Given the description of an element on the screen output the (x, y) to click on. 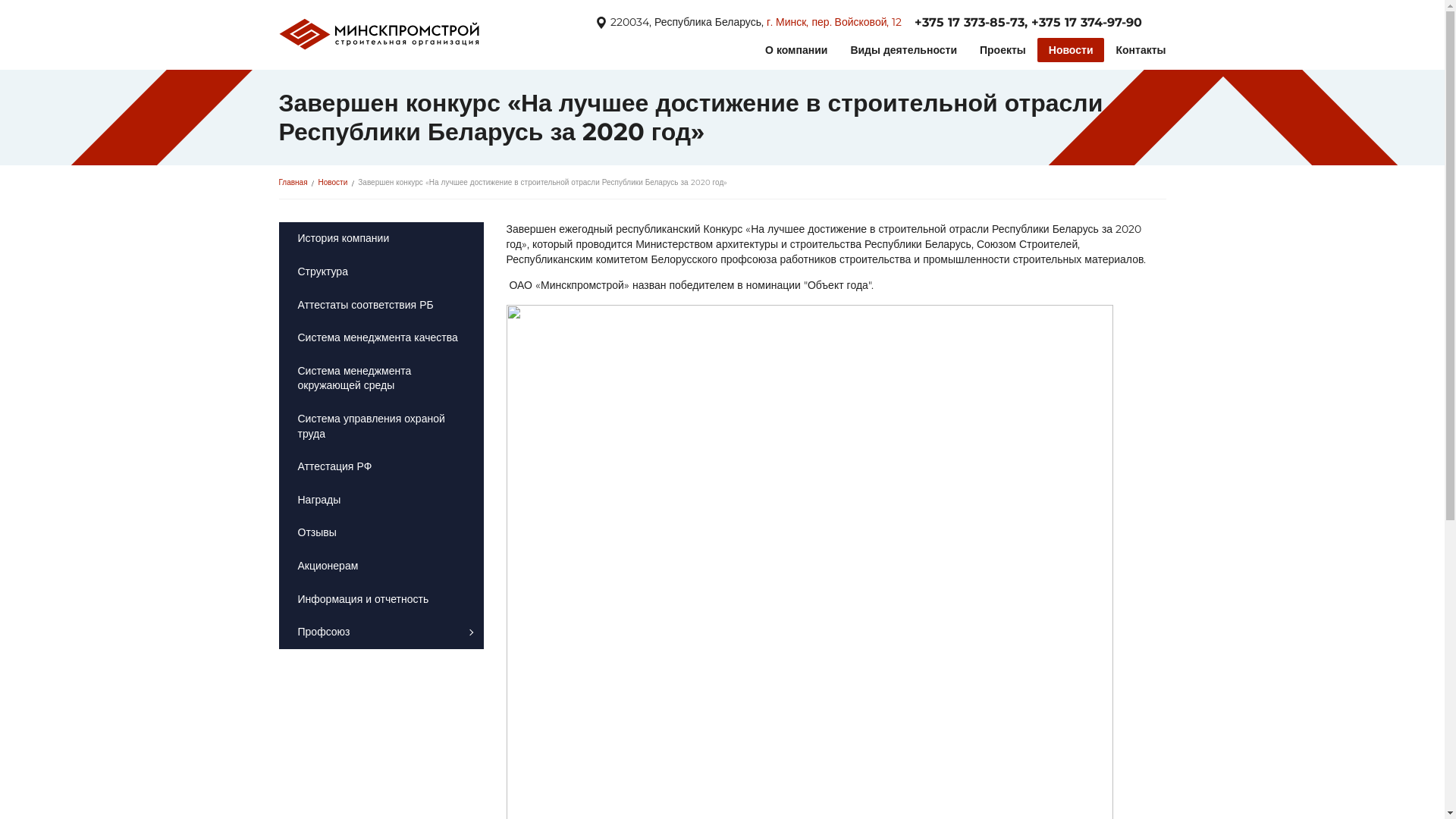
+375 17 373-85-73, +375 17 374-97-90 Element type: text (1028, 22)
